Given the description of an element on the screen output the (x, y) to click on. 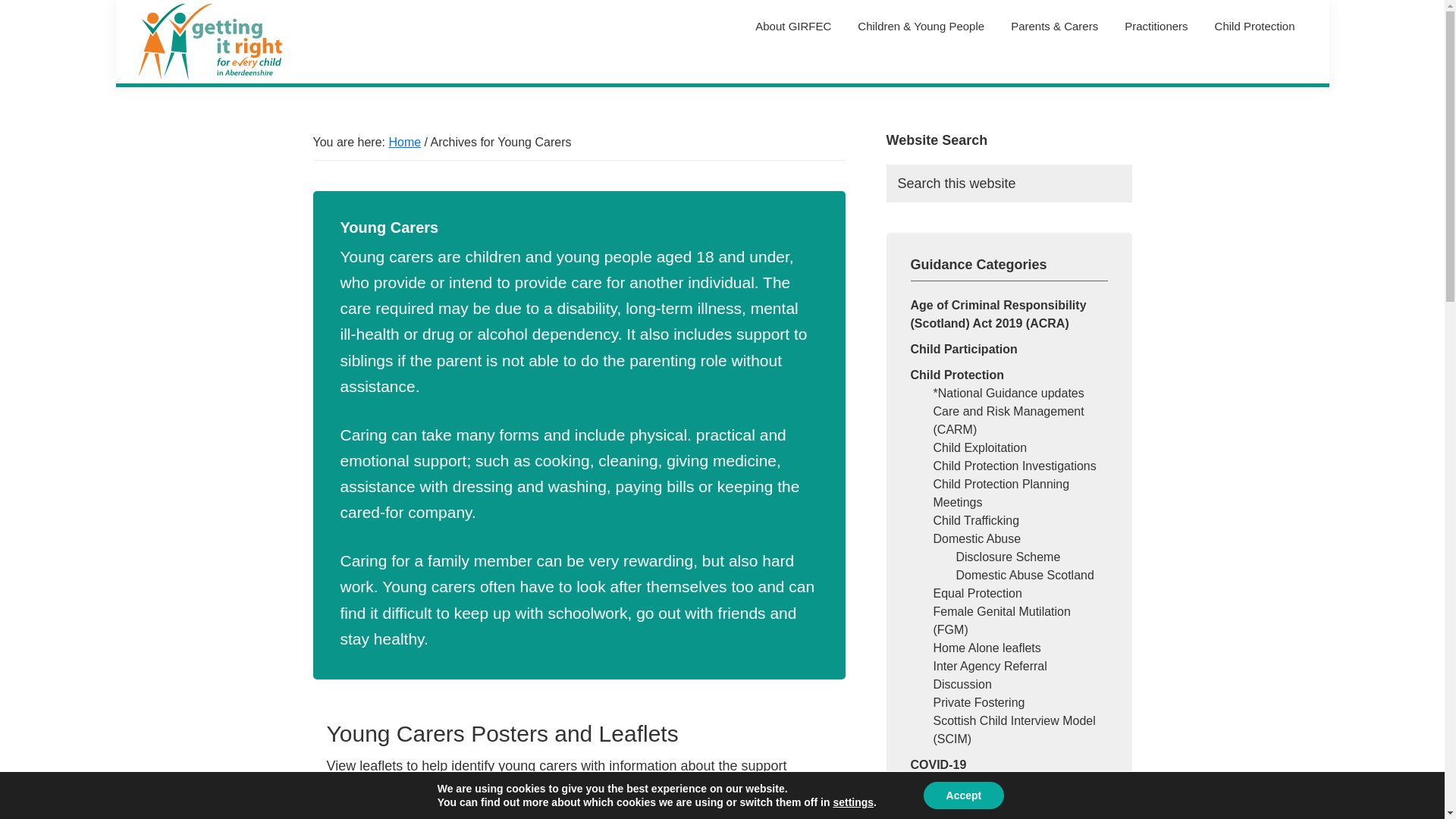
About GIRFEC (793, 25)
Practitioners (1155, 25)
